Given the description of an element on the screen output the (x, y) to click on. 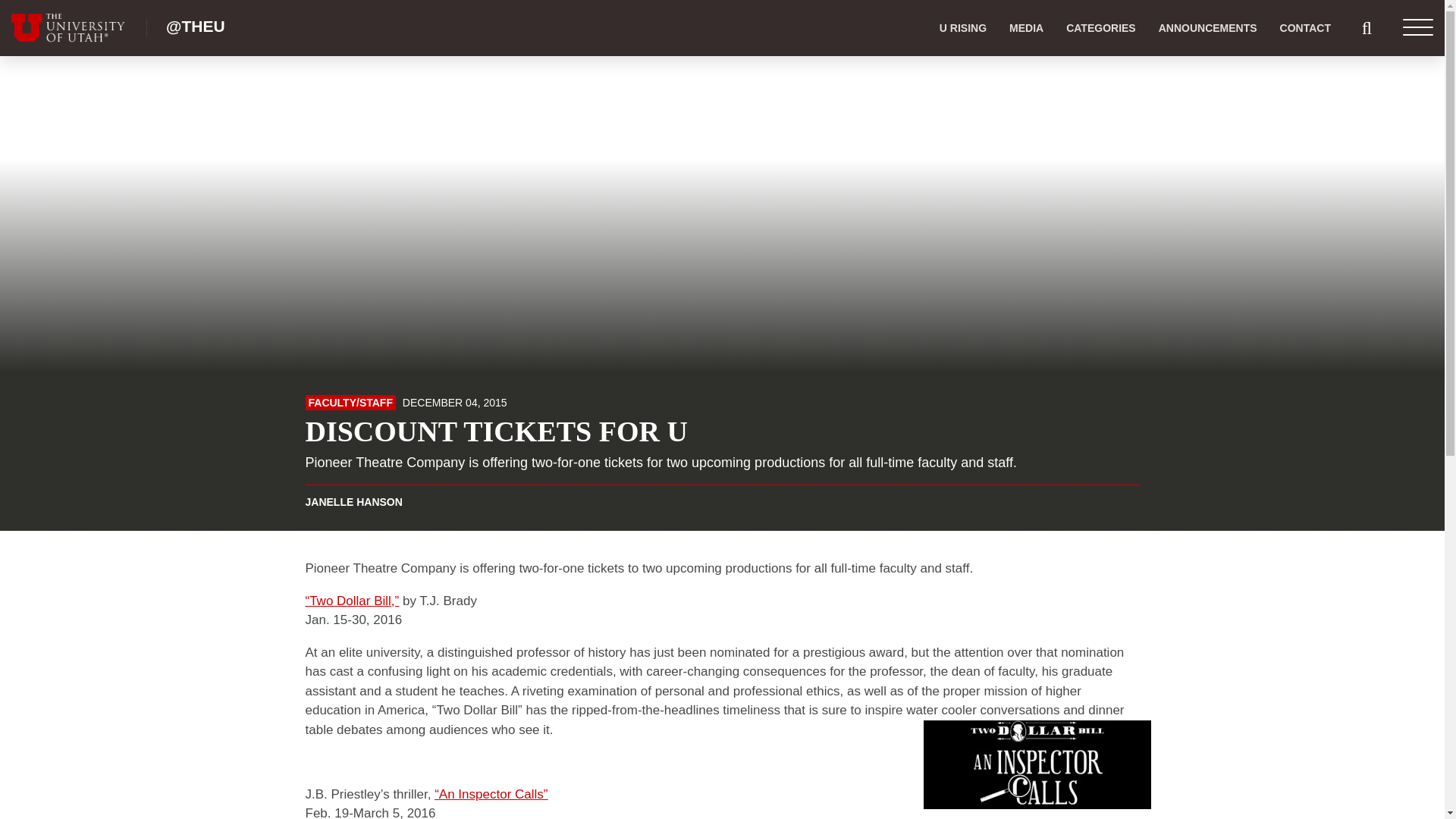
CATEGORIES (1100, 28)
MEDIA (1025, 28)
U RISING (962, 28)
